Given the description of an element on the screen output the (x, y) to click on. 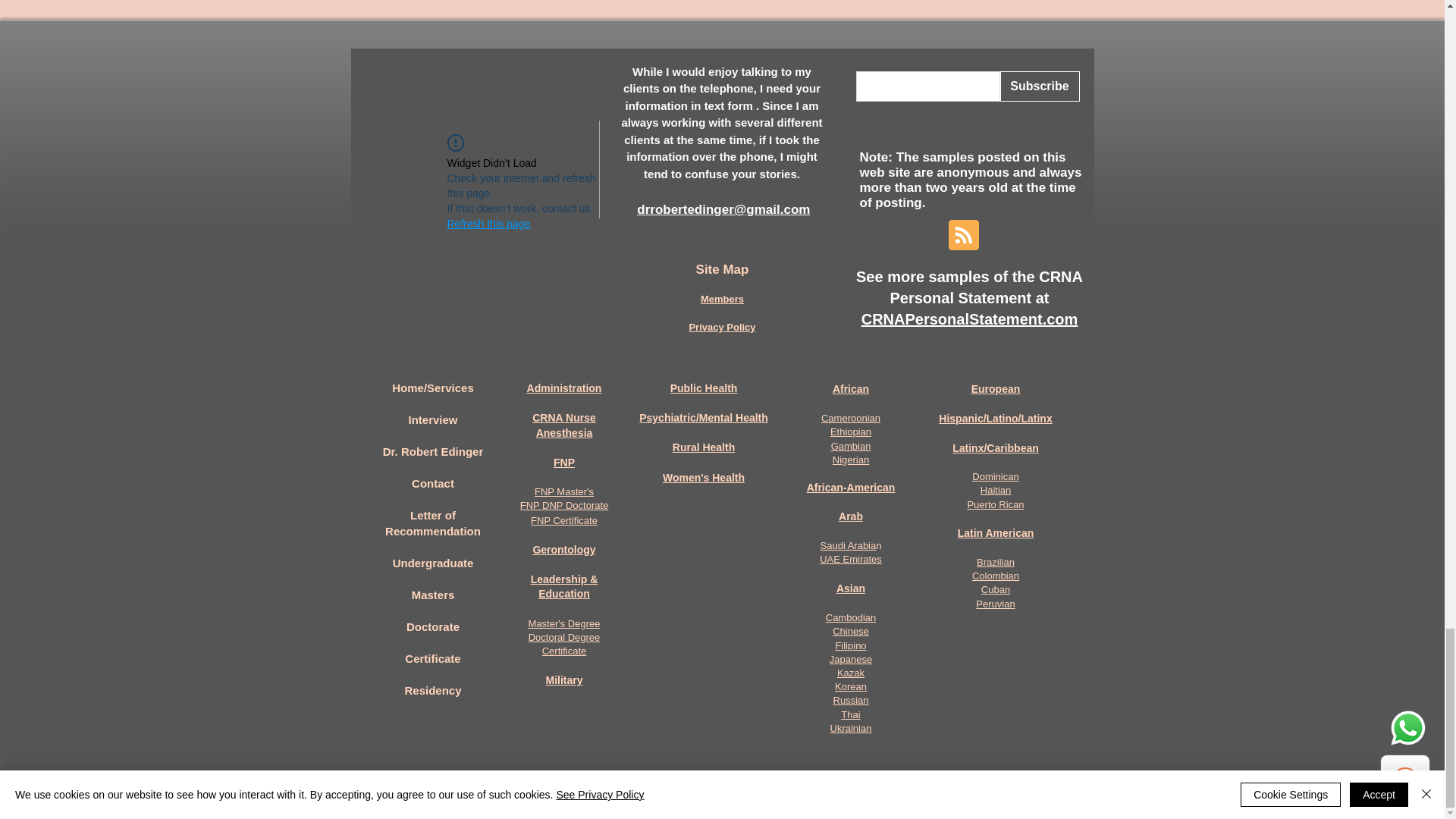
Embedded Content (474, 221)
